Given the description of an element on the screen output the (x, y) to click on. 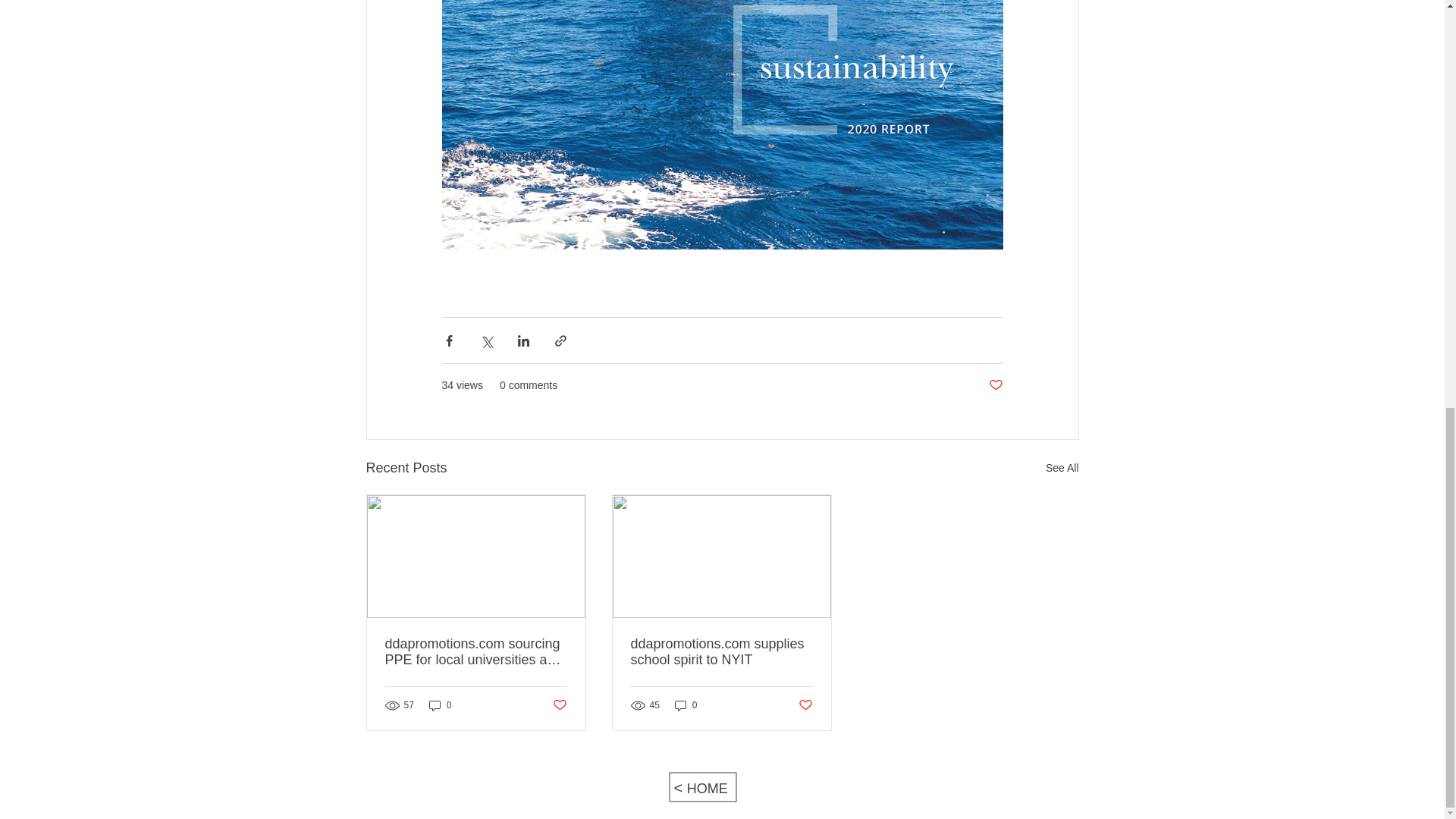
Post not marked as liked (995, 385)
Post not marked as liked (558, 705)
0 (440, 705)
ddapromotions.com supplies school spirit to NYIT (721, 652)
See All (1061, 468)
0 (685, 705)
Post not marked as liked (804, 705)
